Given the description of an element on the screen output the (x, y) to click on. 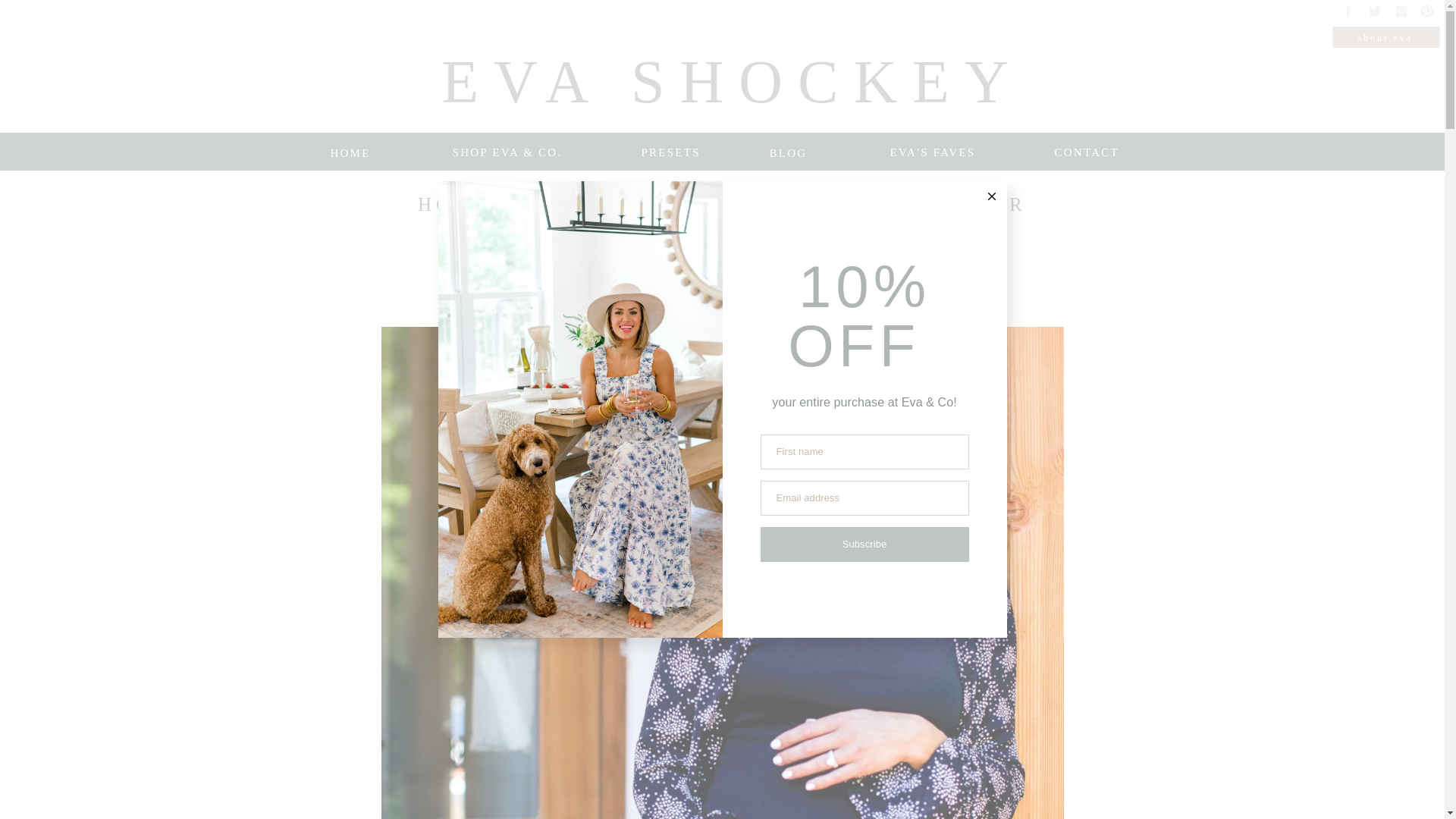
EVA'S FAVES (933, 151)
CONTACT (1086, 151)
EVA SHOCKEY (732, 74)
BLOG (787, 151)
LIFESTYLE (797, 297)
PRESETS (668, 151)
about eva (1385, 37)
HOME (350, 151)
